Given the description of an element on the screen output the (x, y) to click on. 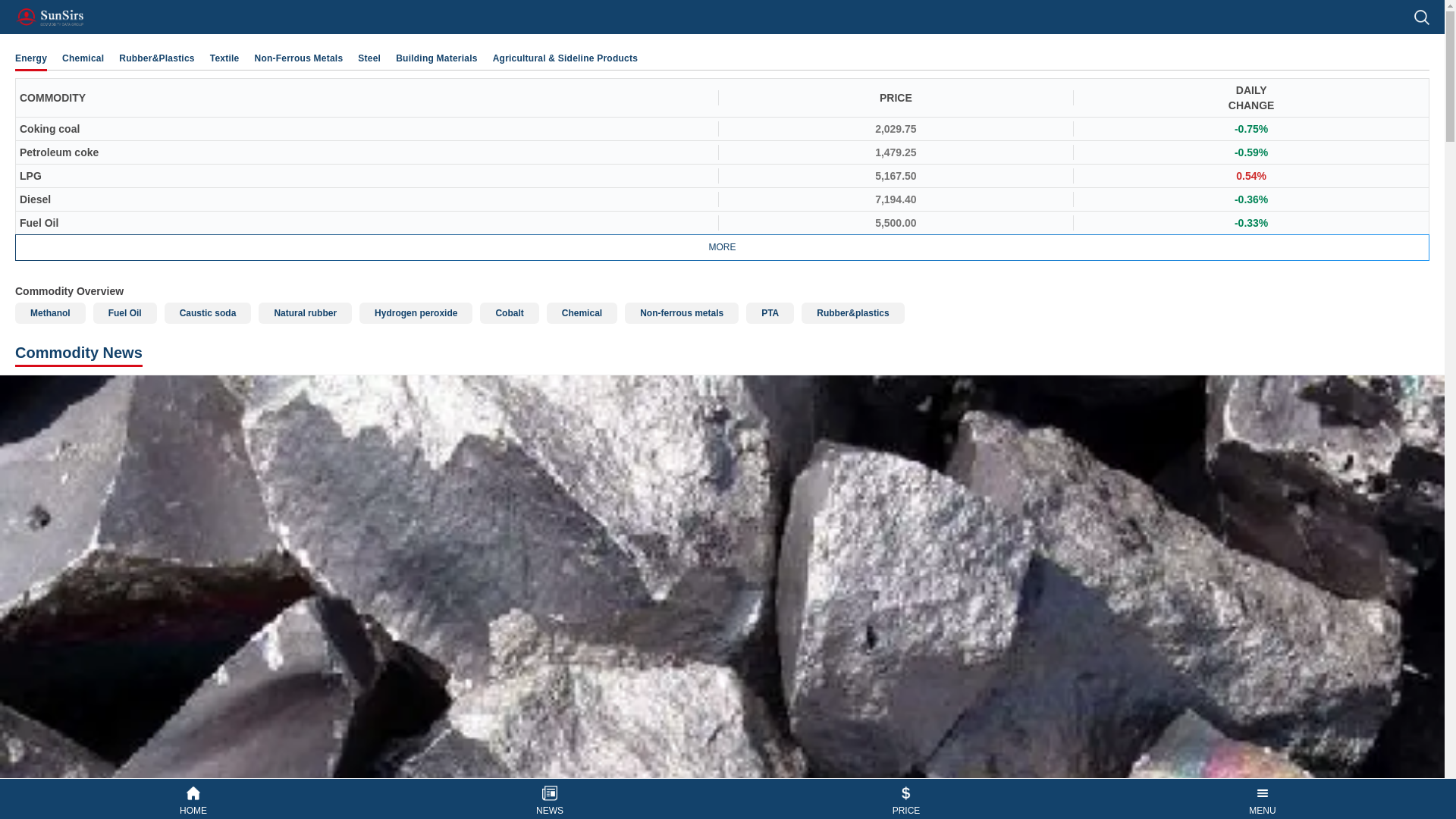
PTA (769, 312)
Fuel Oil (125, 312)
Chemical (582, 312)
Building Materials (436, 58)
Chemical (82, 58)
Non-Ferrous Metals (298, 58)
Caustic soda (207, 312)
Hydrogen peroxide (415, 312)
Non-ferrous metals (681, 312)
Textile (224, 58)
MORE (722, 247)
Energy (30, 58)
Natural rubber (305, 312)
Steel (369, 58)
Methanol (49, 312)
